Given the description of an element on the screen output the (x, y) to click on. 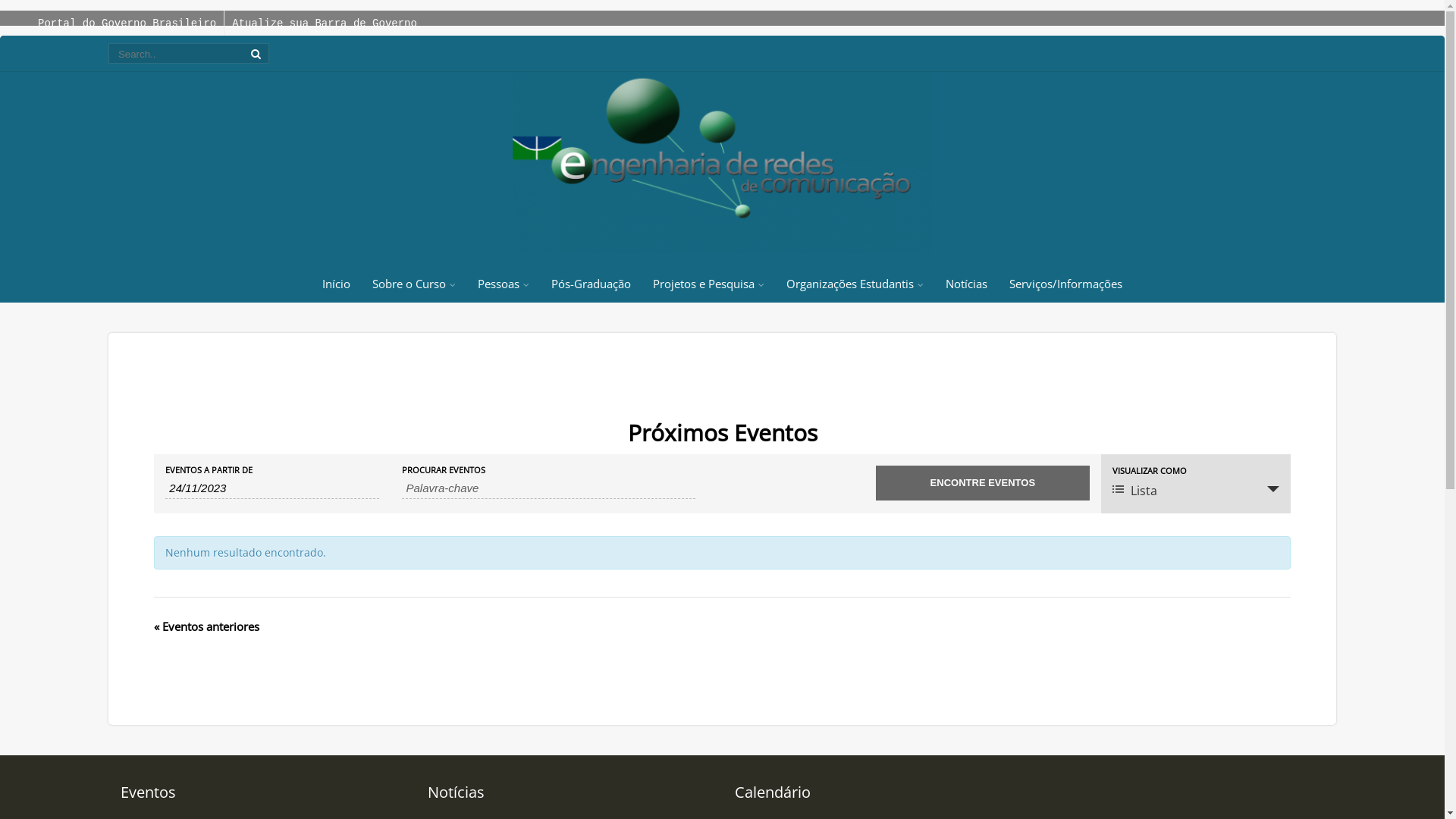
Lista Element type: text (1195, 489)
Encontre Eventos Element type: text (982, 482)
Sobre o Curso Element type: text (413, 283)
Pessoas Element type: text (503, 283)
Atualize sua Barra de Governo Element type: text (324, 23)
Portal do Governo Brasileiro Element type: text (126, 23)
Projetos e Pesquisa Element type: text (708, 283)
